Given the description of an element on the screen output the (x, y) to click on. 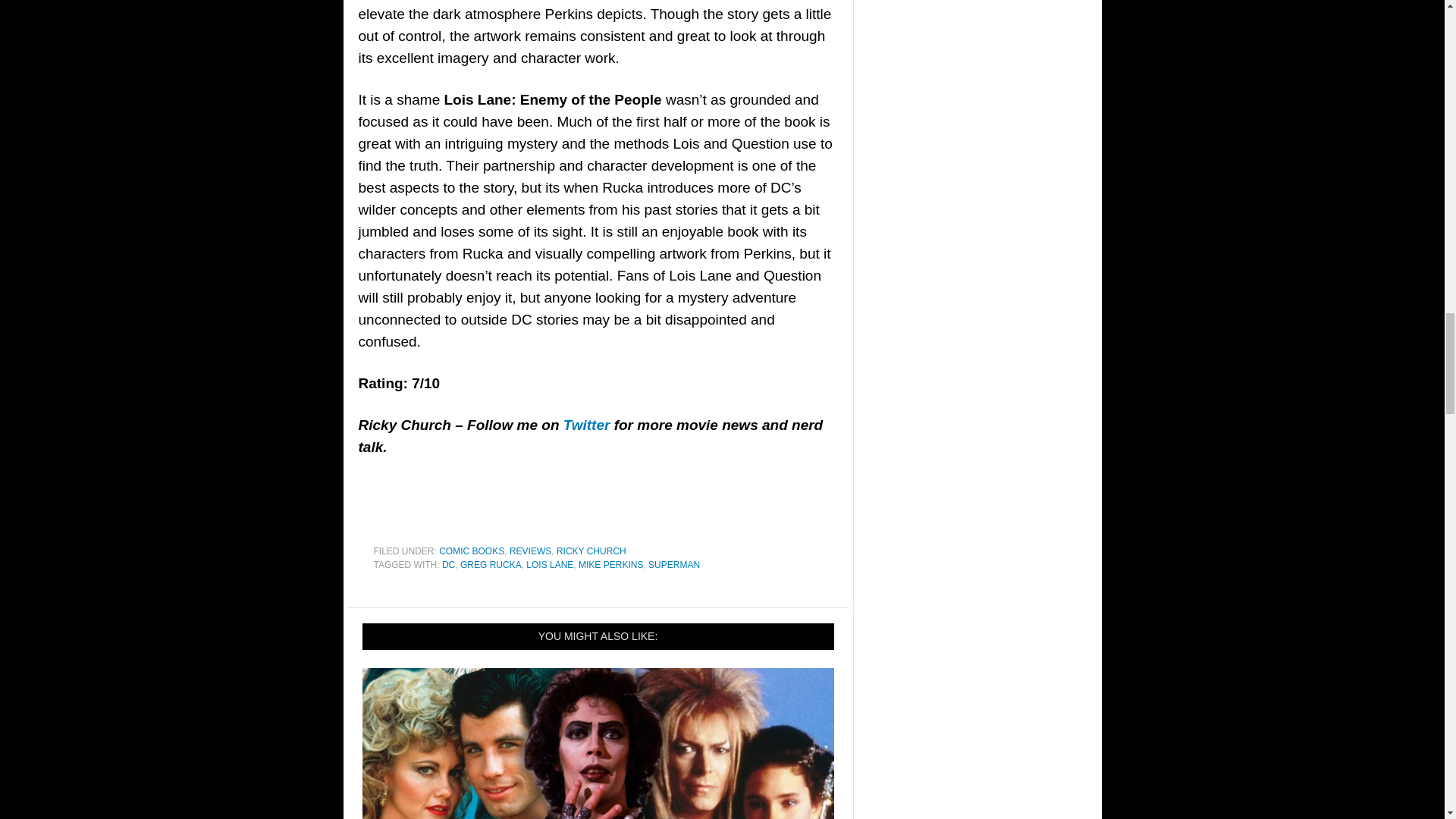
COMIC BOOKS (471, 551)
REVIEWS (530, 551)
Twitter (586, 424)
RICKY CHURCH (591, 551)
